Given the description of an element on the screen output the (x, y) to click on. 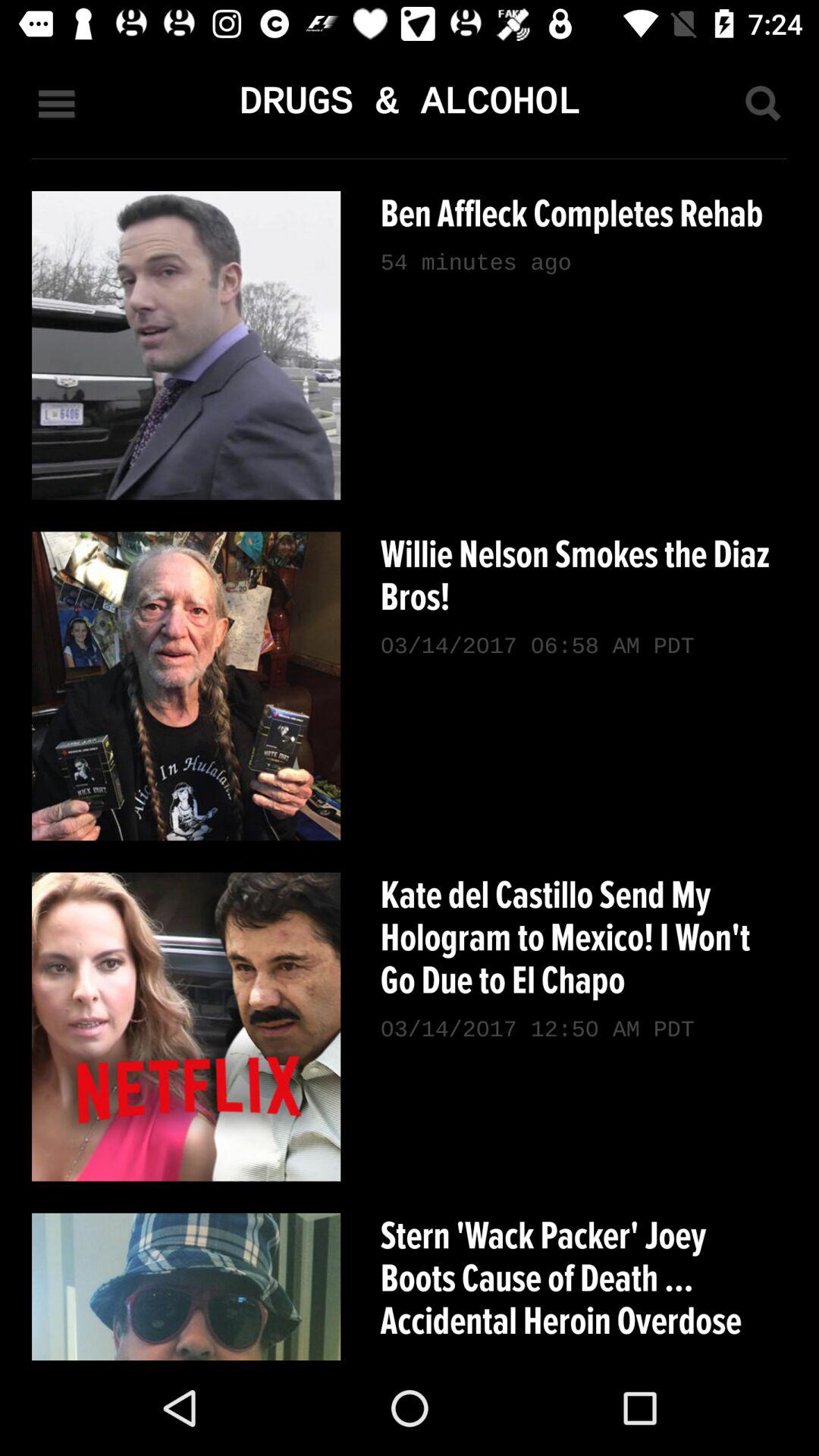
press drugs & alcohol (409, 103)
